Given the description of an element on the screen output the (x, y) to click on. 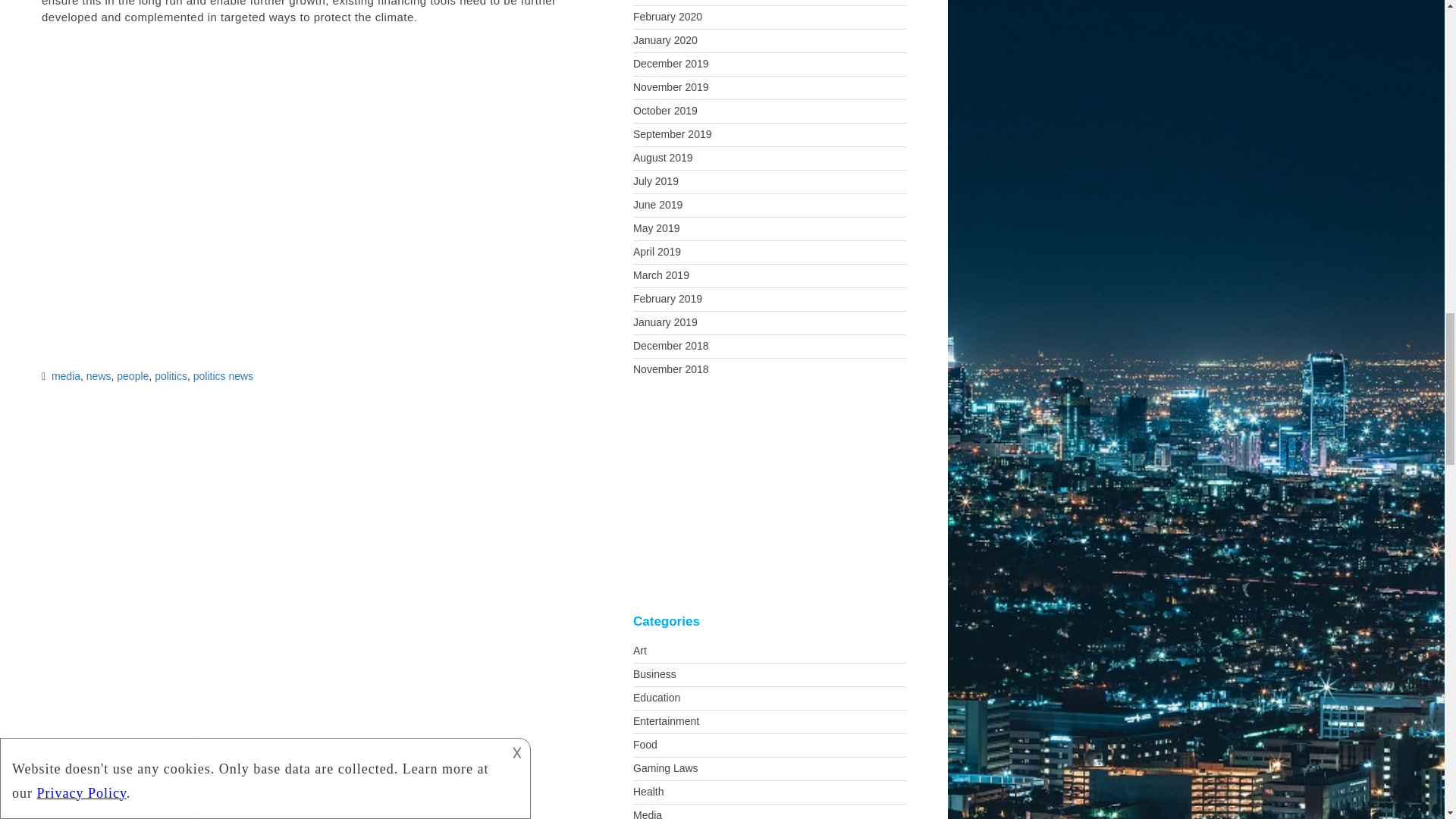
politics news (223, 376)
news (98, 376)
people (132, 376)
media (65, 376)
politics (170, 376)
